Given the description of an element on the screen output the (x, y) to click on. 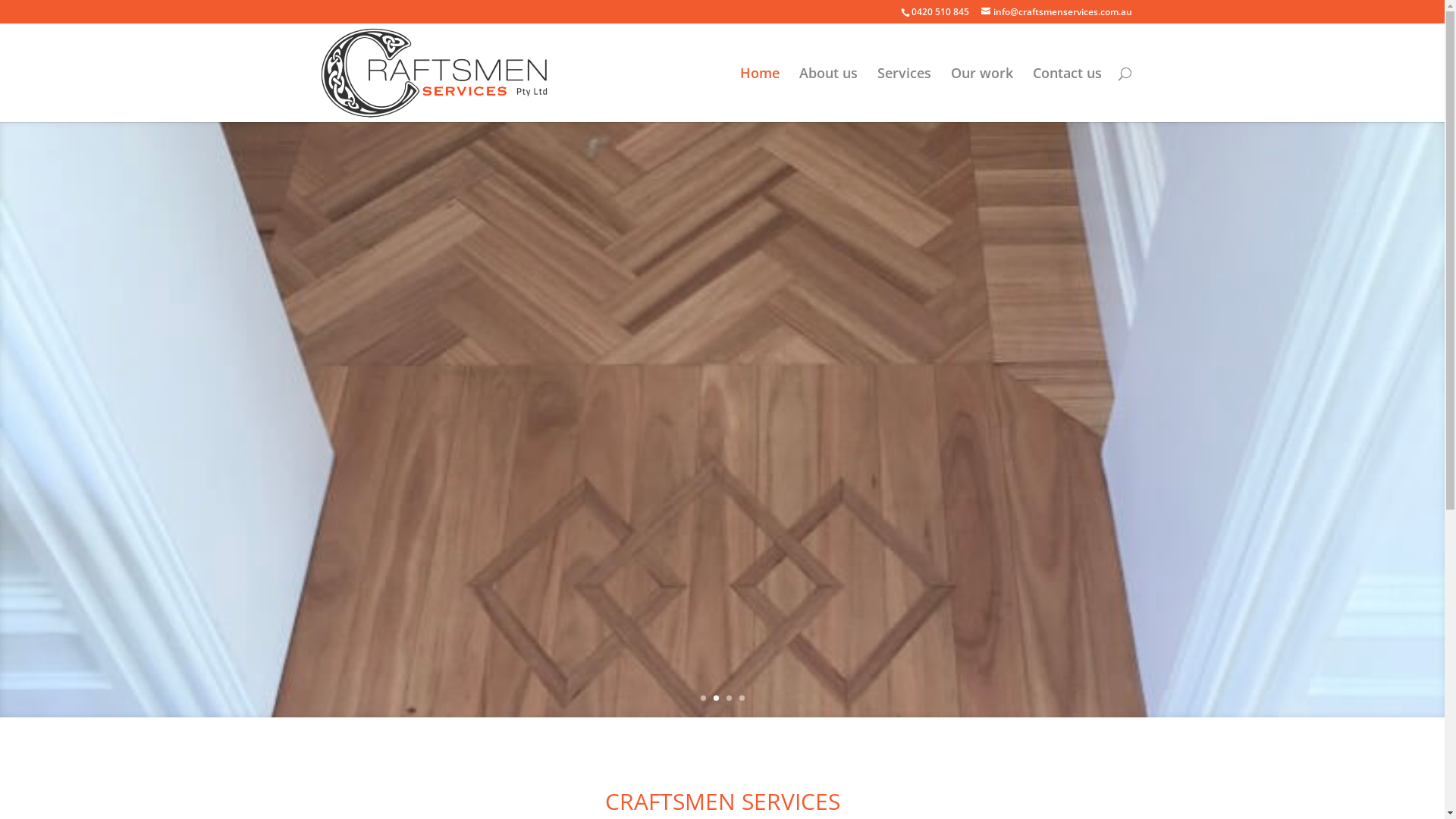
Services Element type: text (903, 94)
2 Element type: text (715, 697)
Home Element type: text (759, 94)
1 Element type: text (703, 697)
3 Element type: text (728, 697)
0420 510 845 Element type: text (939, 11)
Contact us Element type: text (1066, 94)
info@craftsmenservices.com.au Element type: text (1056, 11)
About us Element type: text (828, 94)
Our work Element type: text (981, 94)
4 Element type: text (740, 697)
